Given the description of an element on the screen output the (x, y) to click on. 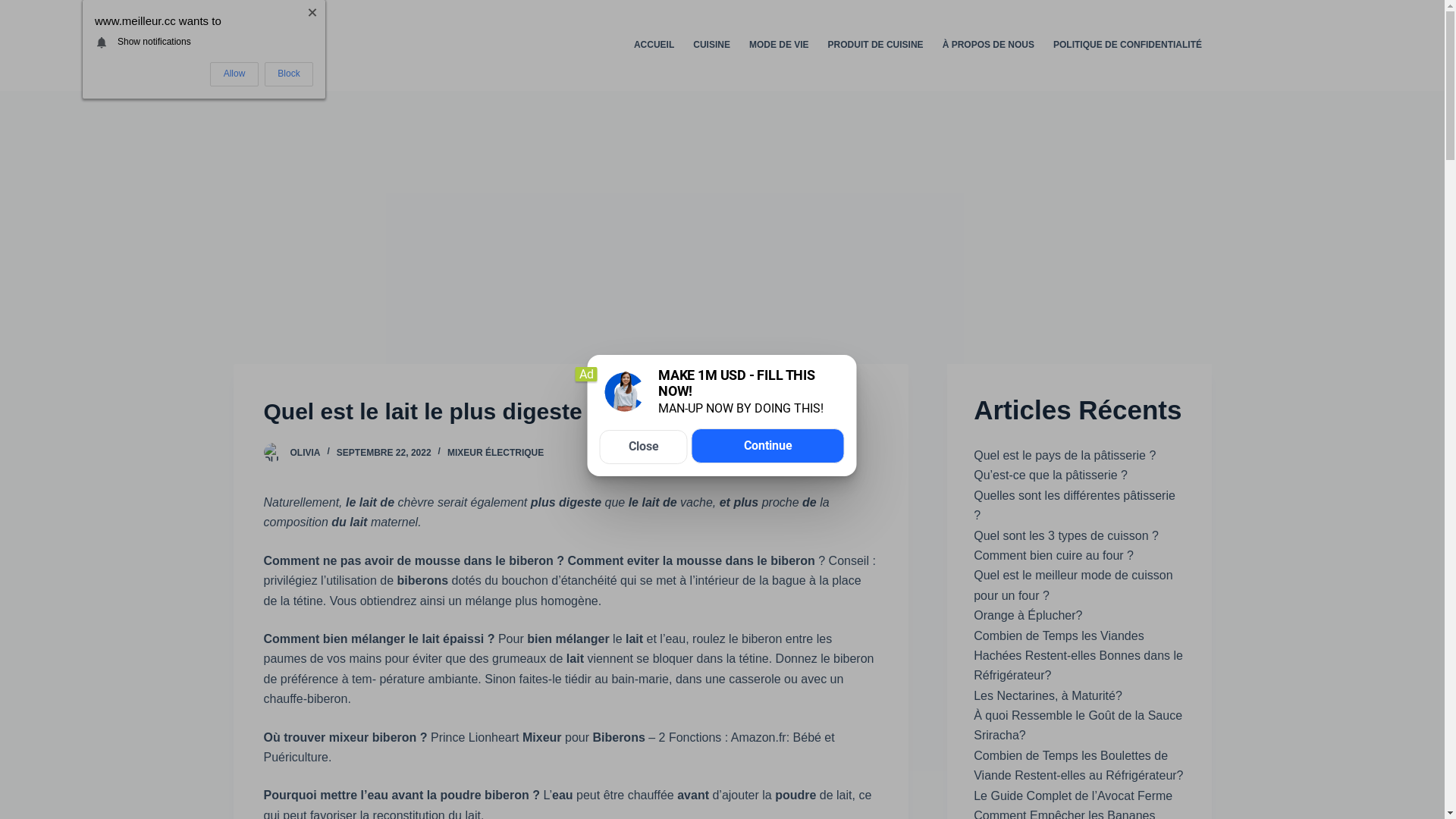
OLIVIA Element type: text (304, 452)
Passer au contenu Element type: text (15, 7)
CUISINE Element type: text (712, 45)
PRODUIT DE CUISINE Element type: text (875, 45)
Comment bien cuire au four ? Element type: text (1053, 555)
Advertisement Element type: hover (721, 204)
ACCUEIL Element type: text (653, 45)
Quel est le meilleur mode de cuisson pour un four ? Element type: text (1072, 584)
Quel sont les 3 types de cuisson ? Element type: text (1065, 535)
MODE DE VIE Element type: text (778, 45)
